Given the description of an element on the screen output the (x, y) to click on. 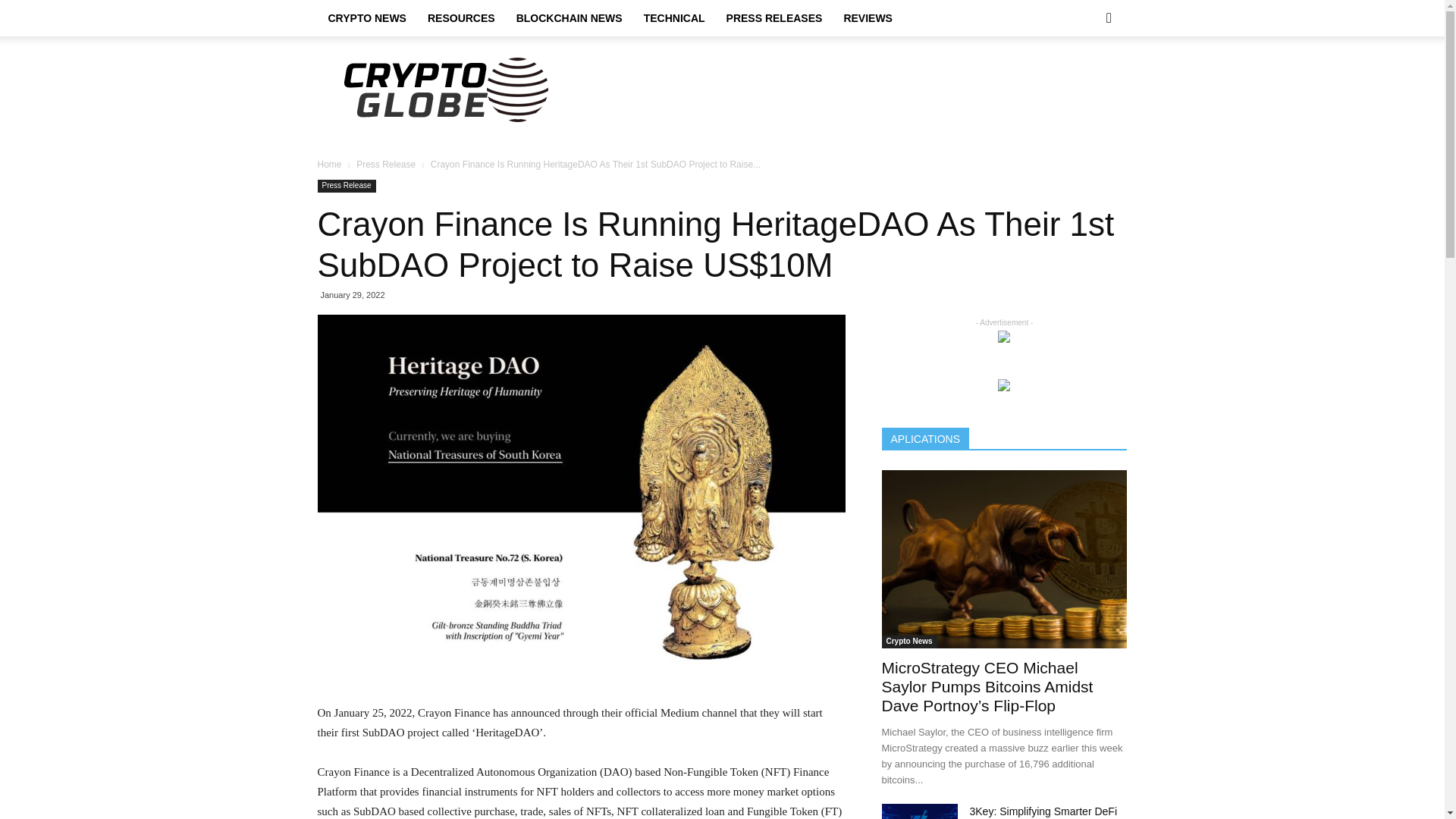
TECHNICAL (674, 18)
BLOCKCHAIN NEWS (569, 18)
CRYPTO NEWS (366, 18)
RESOURCES (460, 18)
View all posts in Press Release (385, 163)
PRESS RELEASES (774, 18)
Press Release (385, 163)
Search (1085, 78)
Press Release (346, 185)
Home (328, 163)
REVIEWS (867, 18)
